Given the description of an element on the screen output the (x, y) to click on. 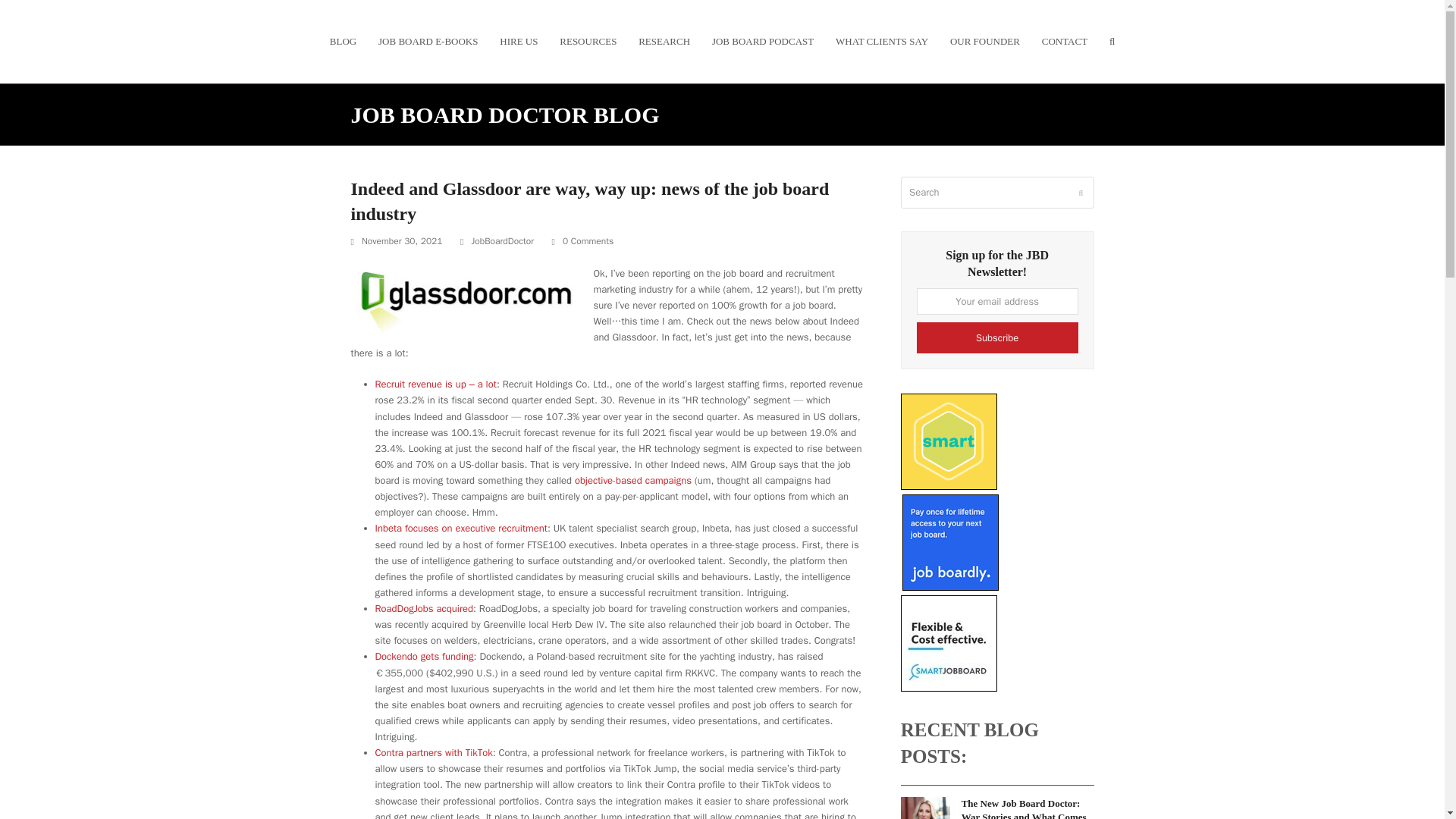
Inbeta focuses on executive recruitment (460, 527)
WHAT CLIENTS SAY (882, 41)
RESOURCES (587, 41)
Research (664, 41)
Posts by JobBoardDoctor (502, 241)
Resources (587, 41)
HIRE US (518, 41)
OUR FOUNDER (984, 41)
Contact (1063, 41)
Dockendo gets funding (423, 656)
Contra partners with TikTok (433, 752)
RESEARCH (664, 41)
objective-based campaigns (633, 480)
0 Comments (582, 241)
0 Comments (587, 241)
